Given the description of an element on the screen output the (x, y) to click on. 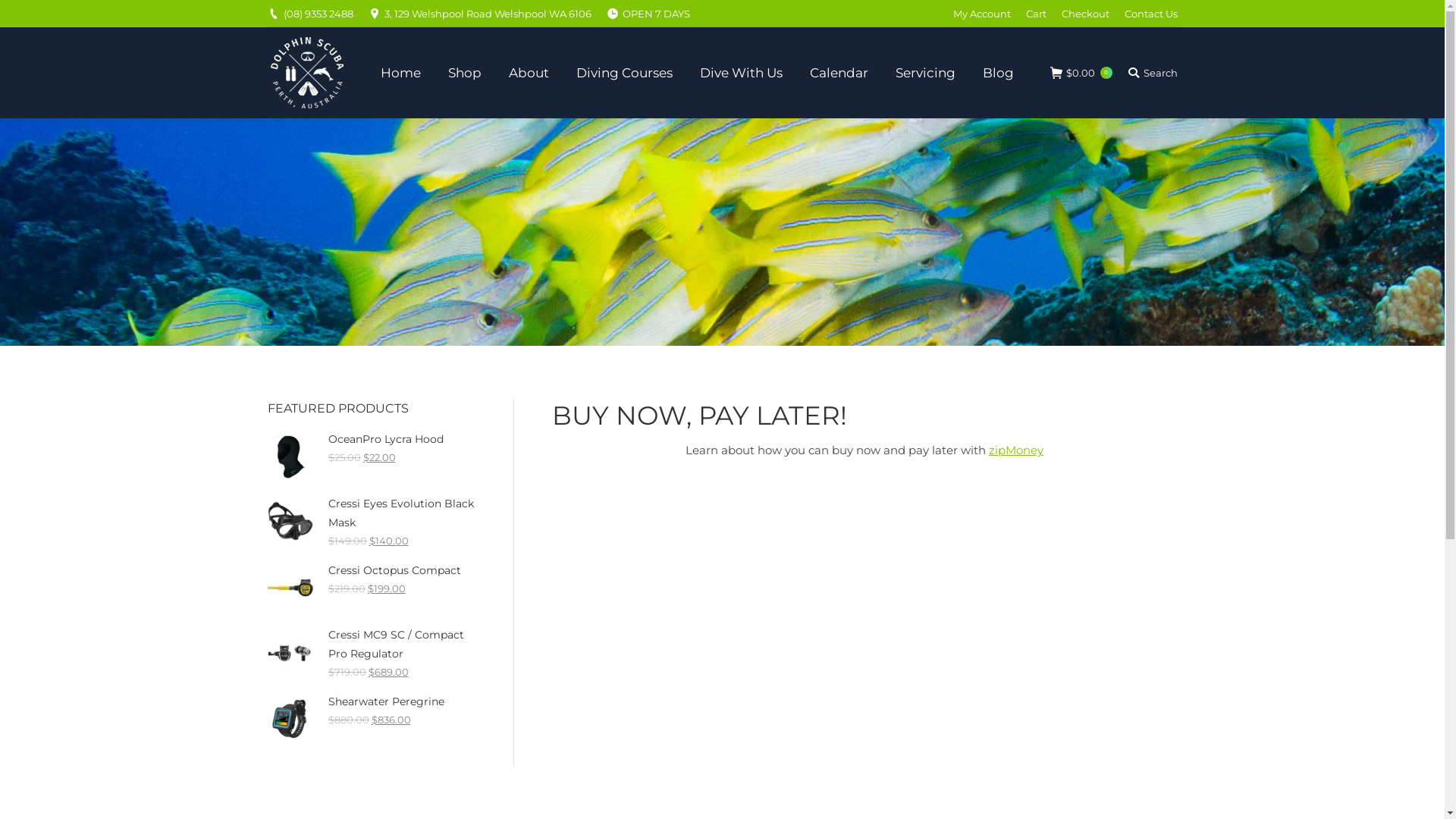
About Element type: text (528, 72)
Cart Element type: text (1035, 13)
Dive With Us Element type: text (740, 72)
Cressi Octopus Compact Element type: text (370, 570)
Servicing Element type: text (925, 72)
Go! Element type: text (22, 14)
Calendar Element type: text (838, 72)
Search Element type: text (1151, 72)
Home Element type: text (400, 72)
OceanPro Lycra Hood Element type: text (370, 438)
Contact Us Element type: text (1149, 13)
Shearwater Peregrine Element type: text (370, 701)
My Account Element type: text (981, 13)
Checkout Element type: text (1085, 13)
Cressi Eyes Evolution Black Mask Element type: text (370, 513)
Diving Courses Element type: text (624, 72)
Blog Element type: text (997, 72)
Shop Element type: text (464, 72)
Cressi MC9 SC / Compact Pro Regulator Element type: text (370, 644)
$0.00
0 Element type: text (1080, 72)
zipMoney Element type: text (1015, 449)
